Given the description of an element on the screen output the (x, y) to click on. 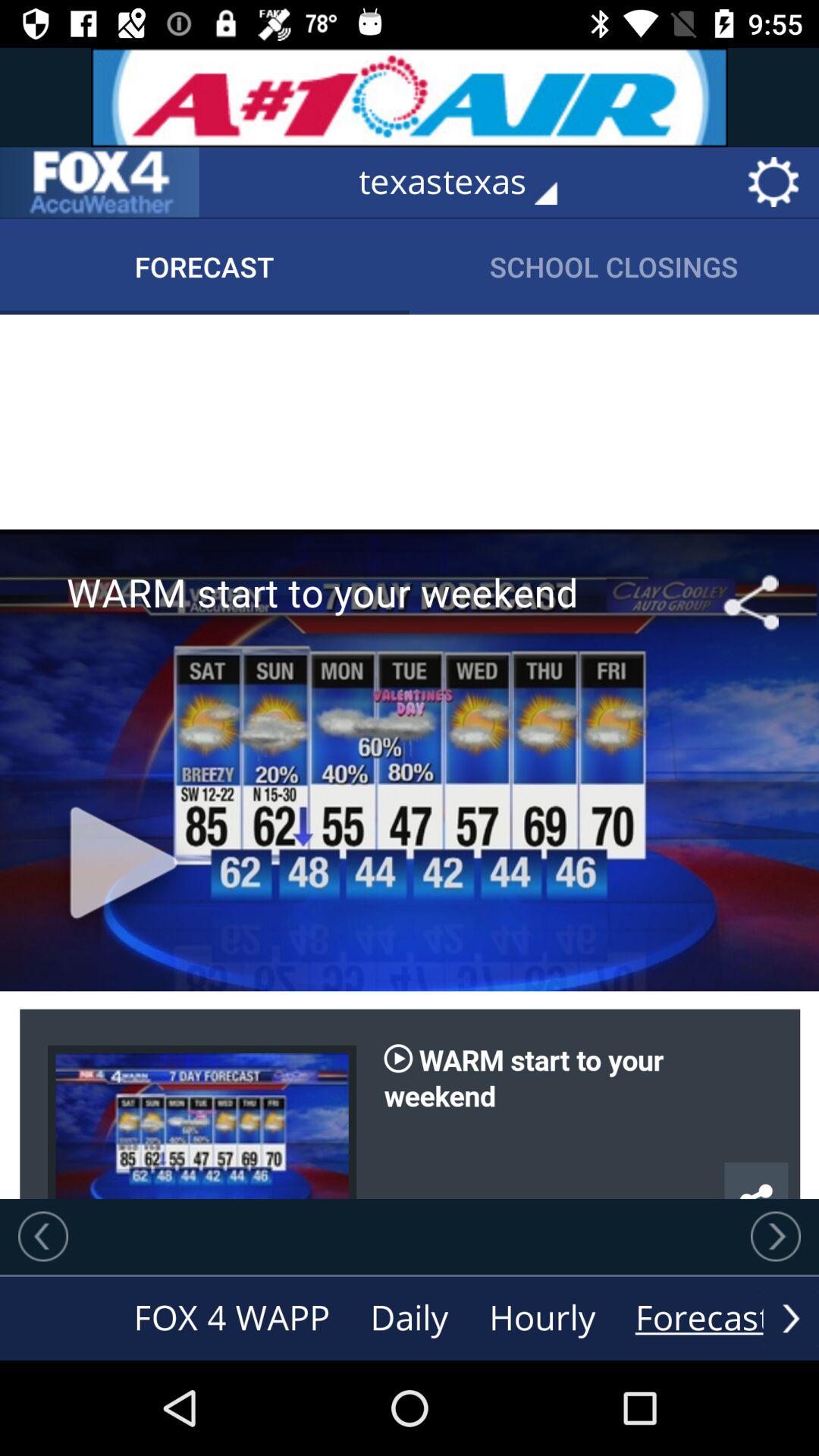
go next page (775, 1236)
